Given the description of an element on the screen output the (x, y) to click on. 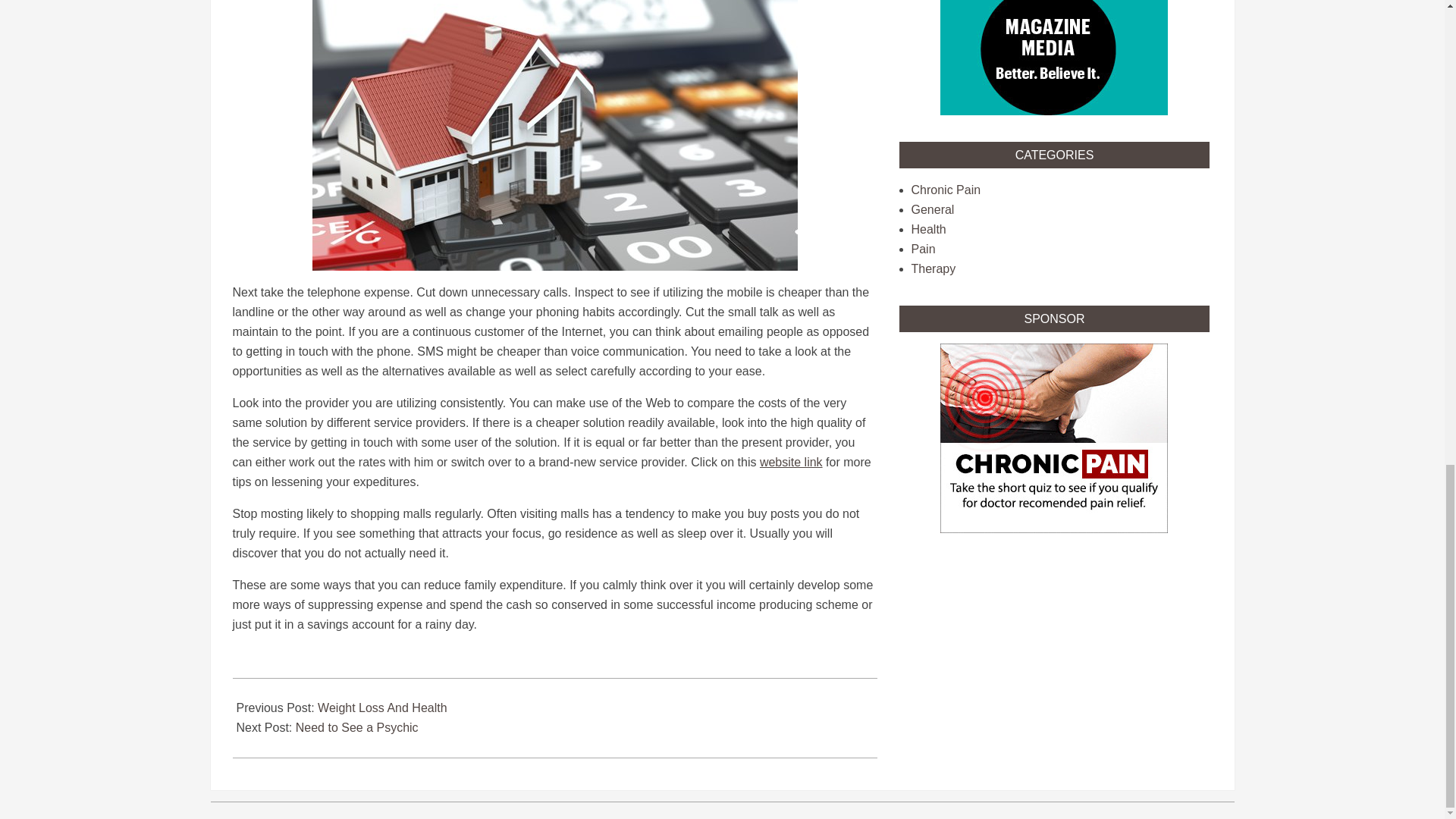
Therapy (933, 268)
Need to See a Psychic (357, 727)
Chronic Pain (946, 189)
website link (791, 461)
Pain (923, 248)
Weight Loss And Health (381, 707)
General (933, 209)
Health (928, 228)
